Given the description of an element on the screen output the (x, y) to click on. 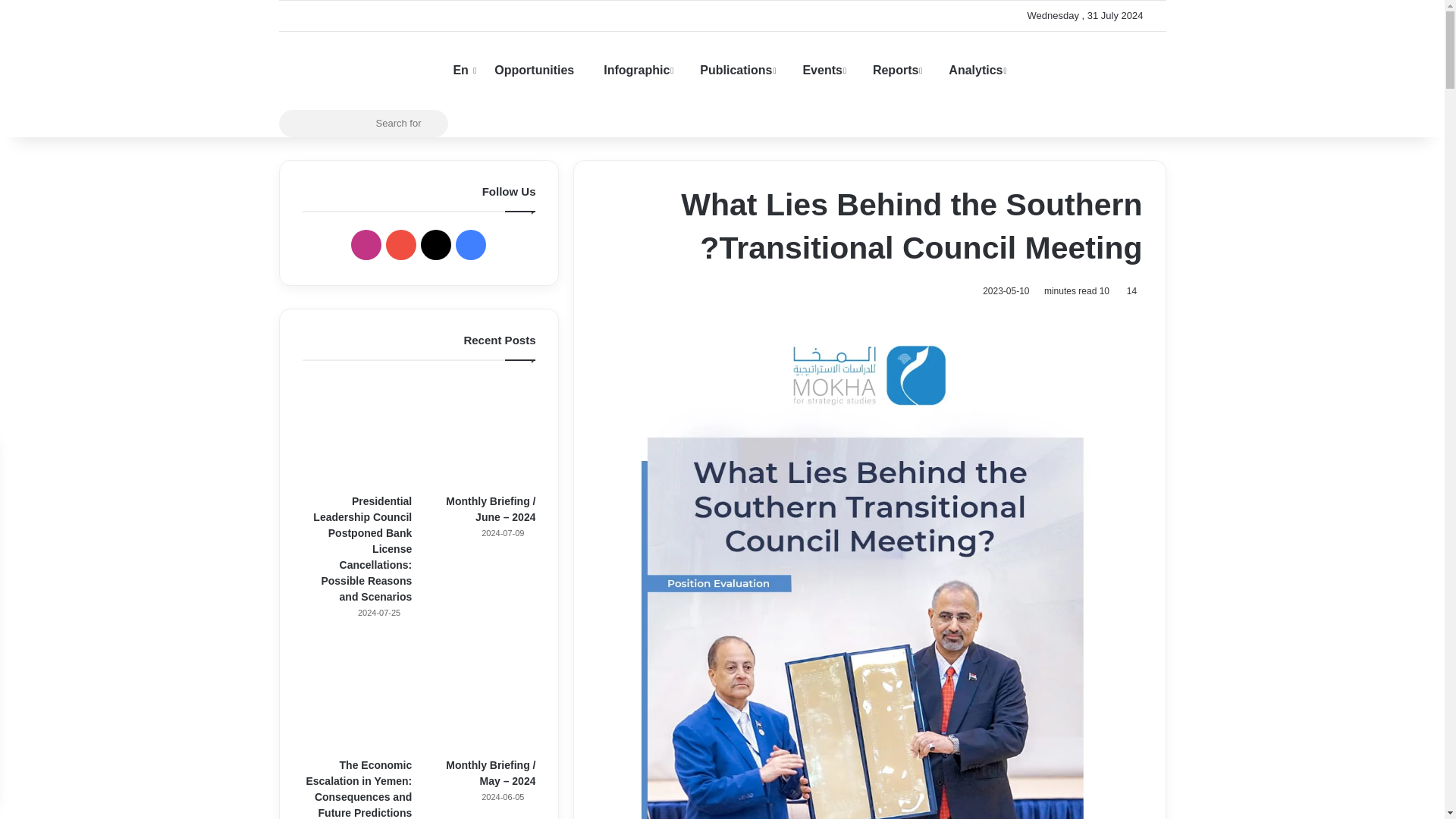
Infographic (633, 70)
Publications (732, 70)
Reports (891, 70)
Search for (363, 122)
Search for (431, 123)
Opportunities (534, 70)
Analytics (971, 70)
